Given the description of an element on the screen output the (x, y) to click on. 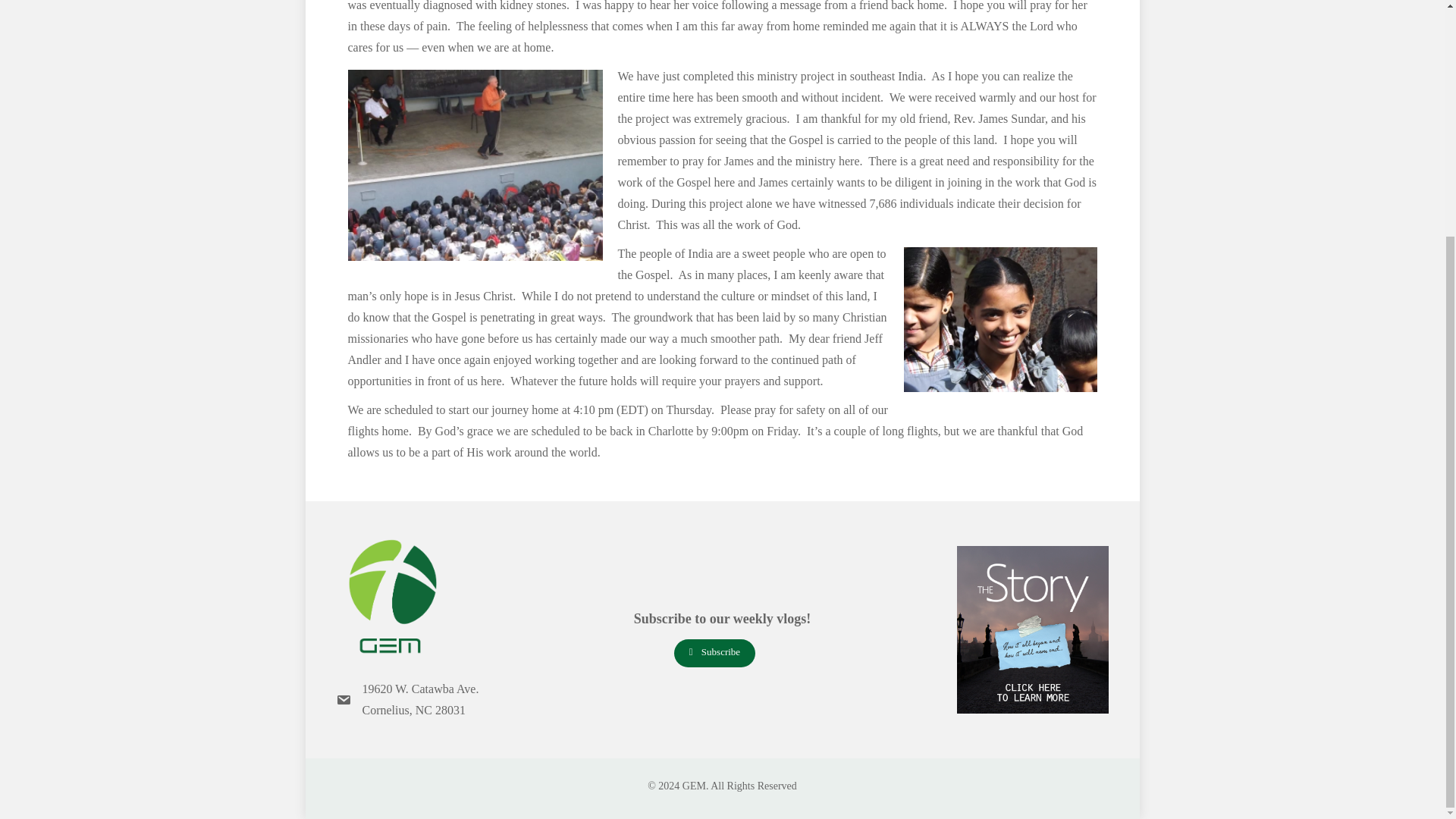
Thur. Sch. Smile (1000, 319)
Thur. Sch. Roy 2 (474, 165)
Subscribe (714, 653)
the-story (1032, 629)
gem-footer-new (391, 597)
